Given the description of an element on the screen output the (x, y) to click on. 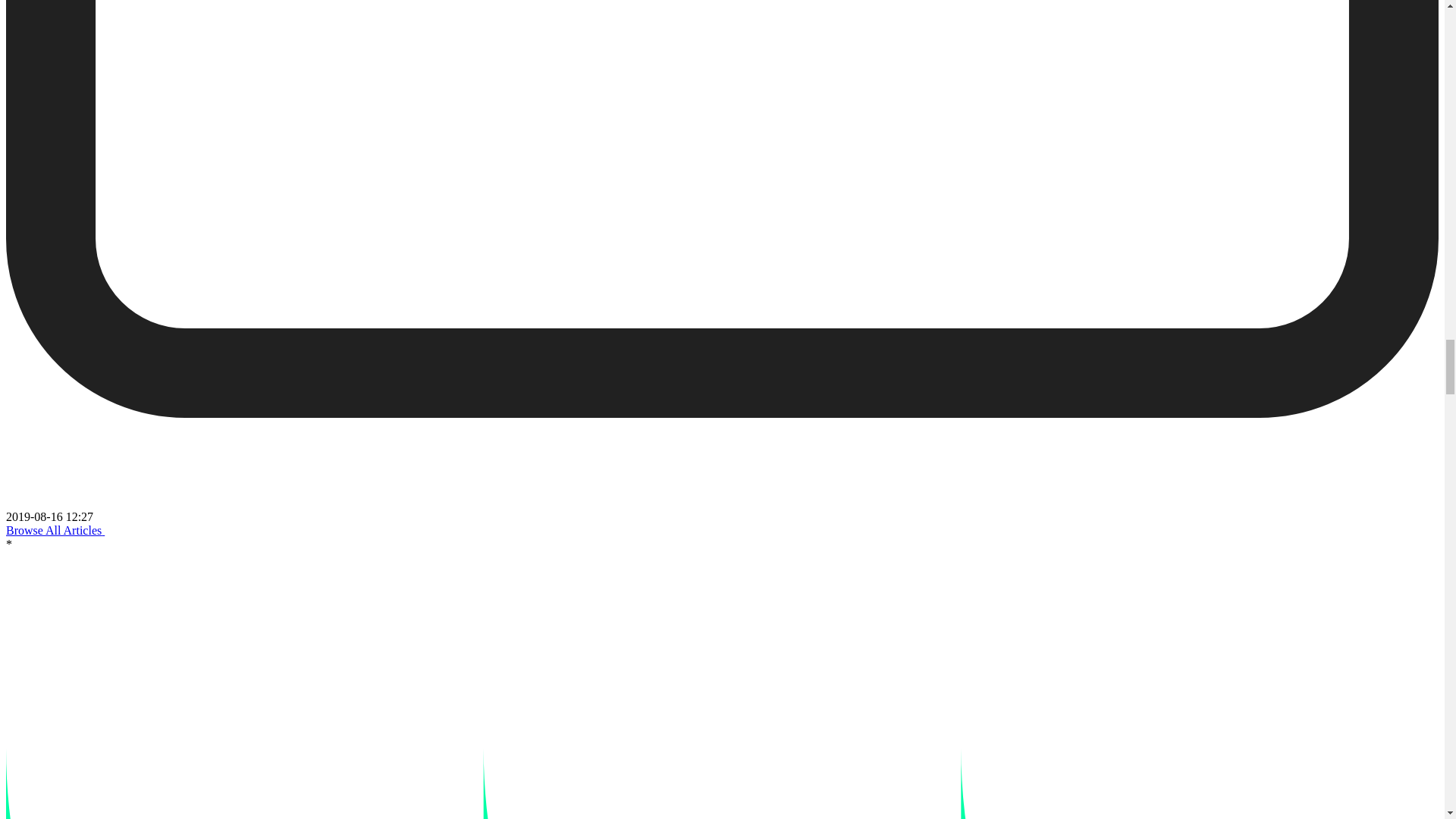
Browse All Articles (60, 530)
